Given the description of an element on the screen output the (x, y) to click on. 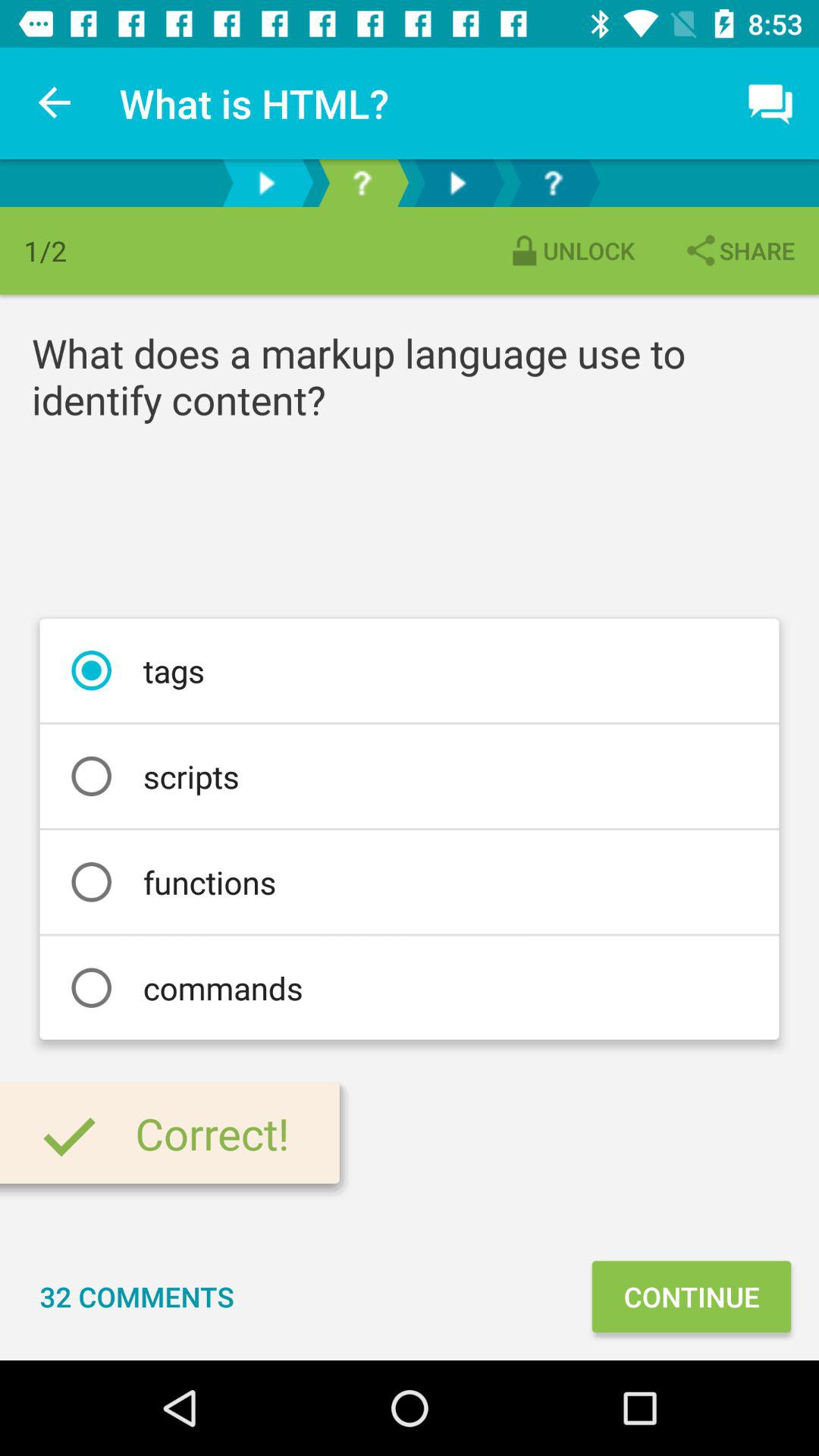
go to next screen (457, 183)
